Given the description of an element on the screen output the (x, y) to click on. 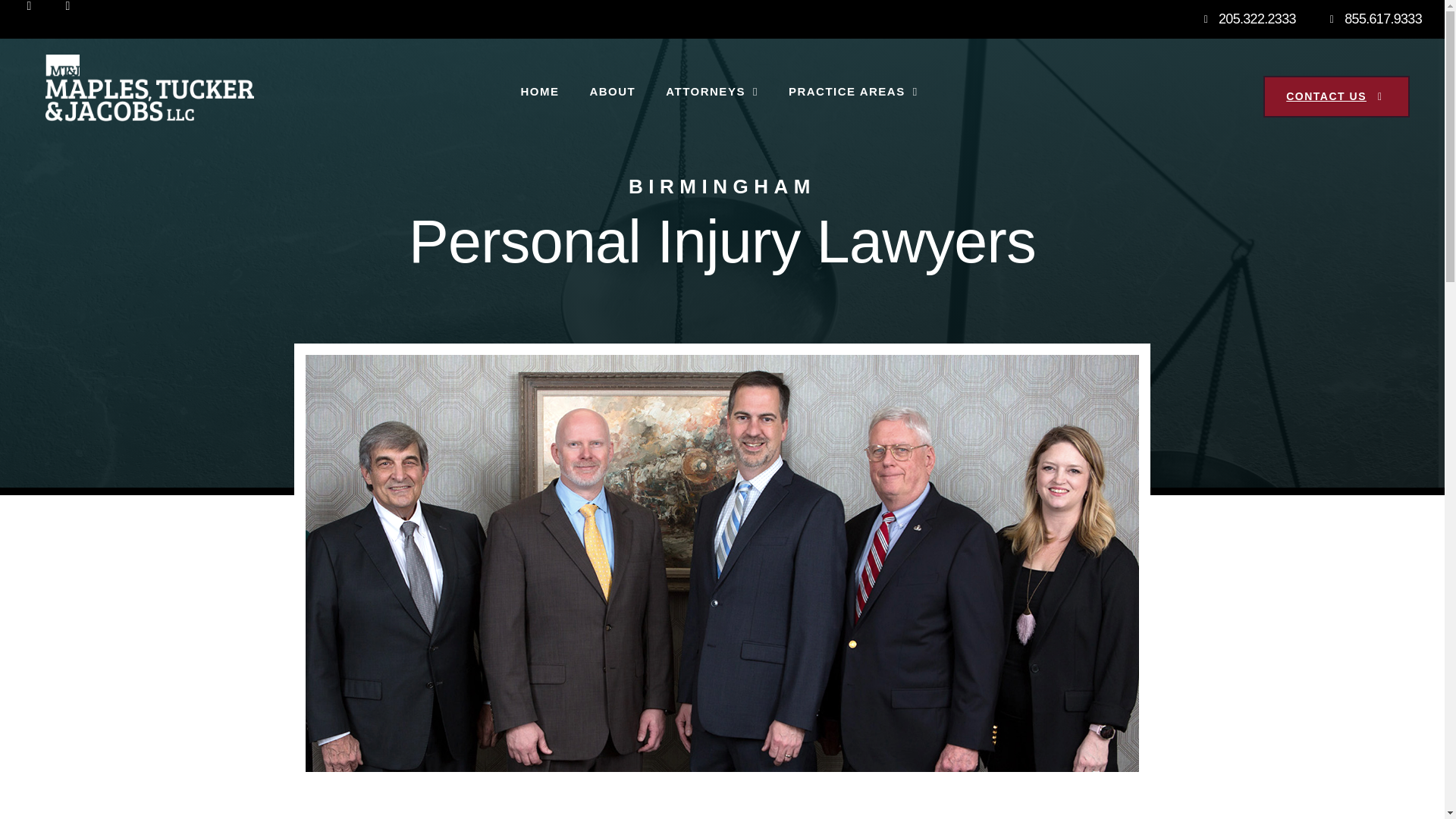
CONTACT US (1336, 96)
PRACTICE AREAS (853, 91)
ATTORNEYS (711, 91)
